Given the description of an element on the screen output the (x, y) to click on. 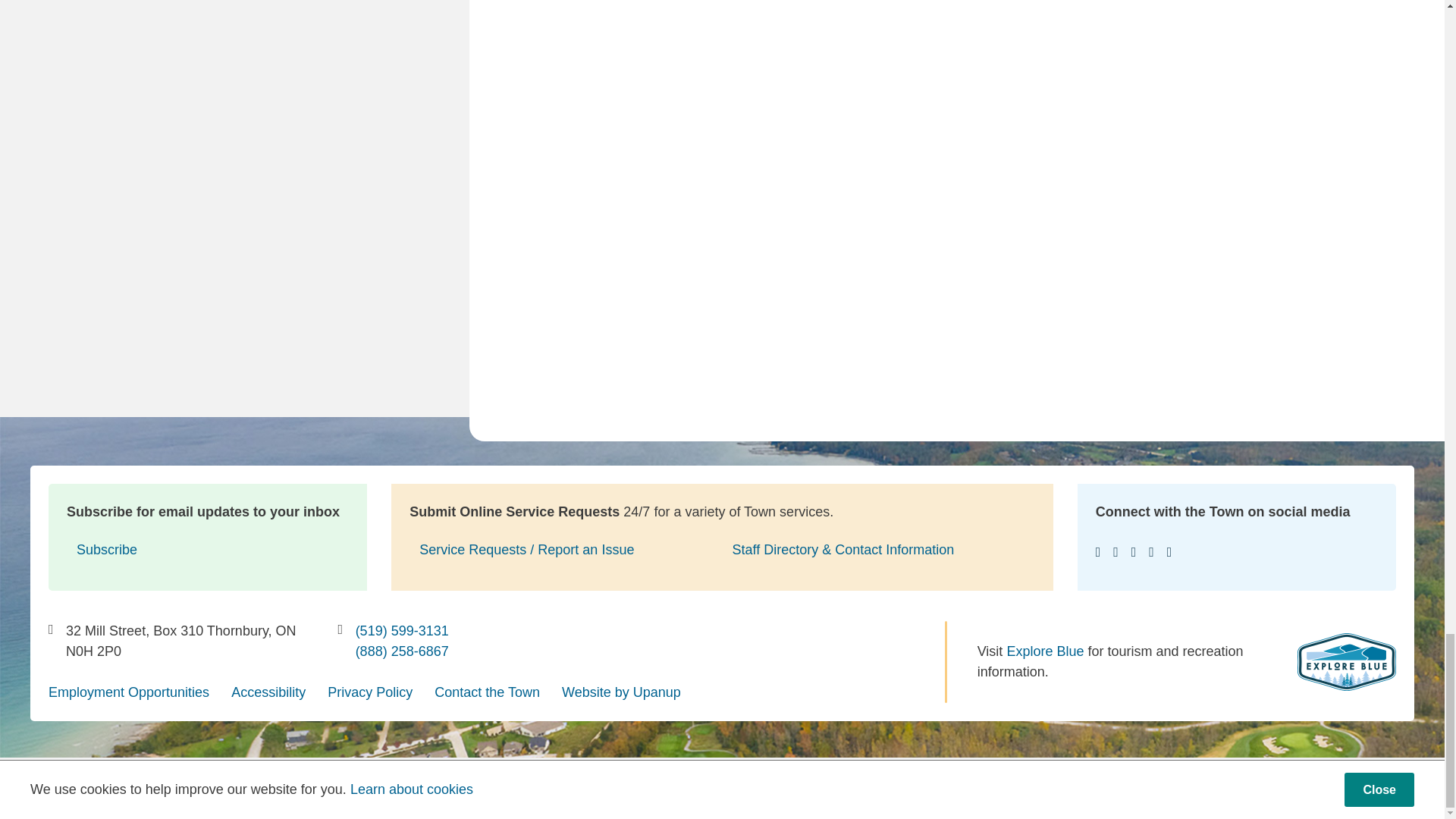
Subscribe for Updates (207, 549)
Town of the Blue Mountains on Facebook (1098, 551)
Town of the Blue Mountains on instagram (1134, 551)
Town of the Blue Mountains on LinkedIn (1151, 551)
Town of the Blue Mountains on YouTube (1115, 551)
Staff Directory (874, 549)
Explore Blue (1346, 662)
